Given the description of an element on the screen output the (x, y) to click on. 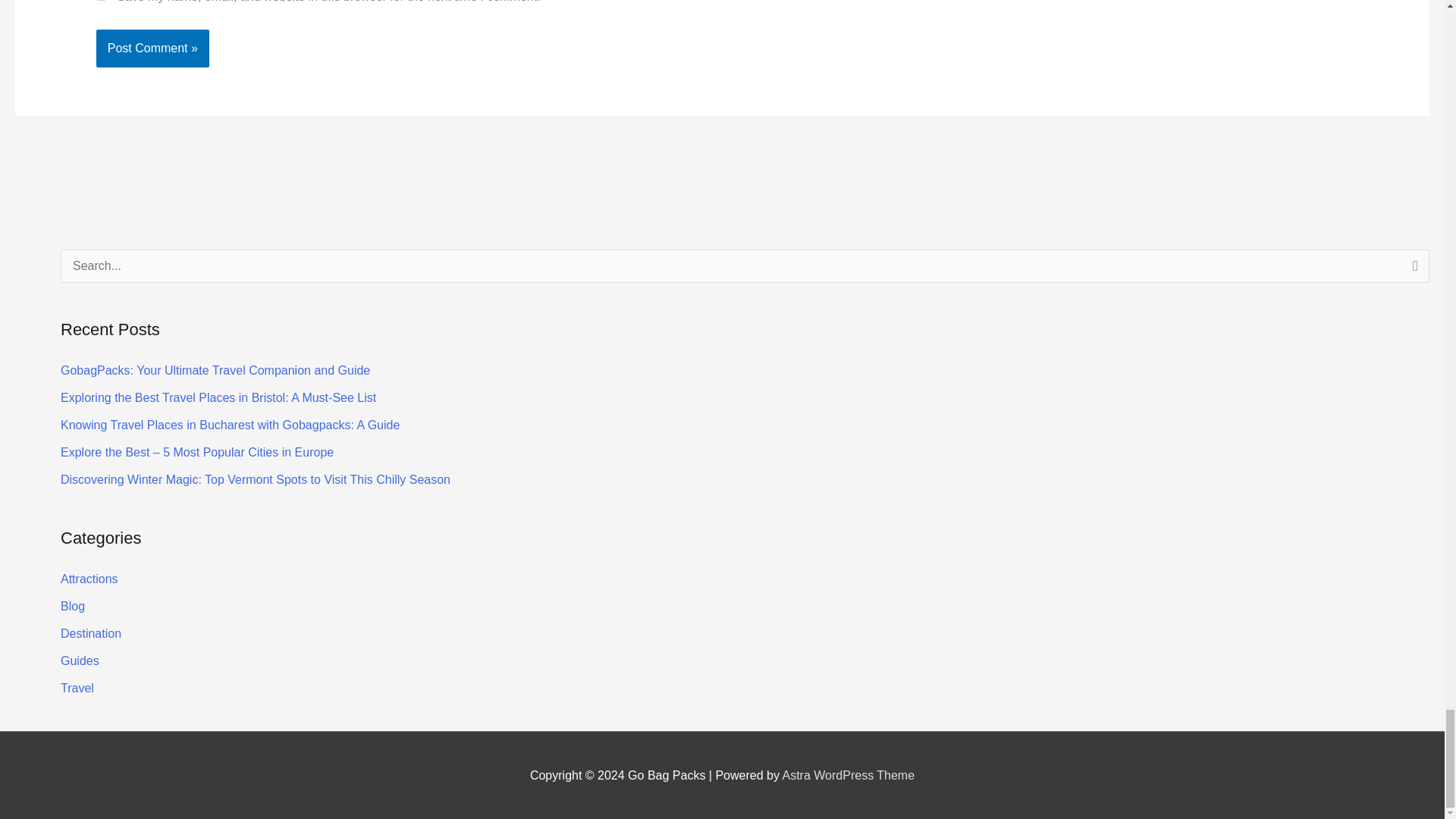
Astra WordPress Theme (849, 775)
Exploring the Best Travel Places in Bristol: A Must-See List (218, 397)
Travel (77, 687)
Destination (90, 633)
Attractions (89, 578)
Knowing Travel Places in Bucharest with Gobagpacks: A Guide (229, 424)
GobagPacks: Your Ultimate Travel Companion and Guide (215, 369)
Guides (80, 660)
